Given the description of an element on the screen output the (x, y) to click on. 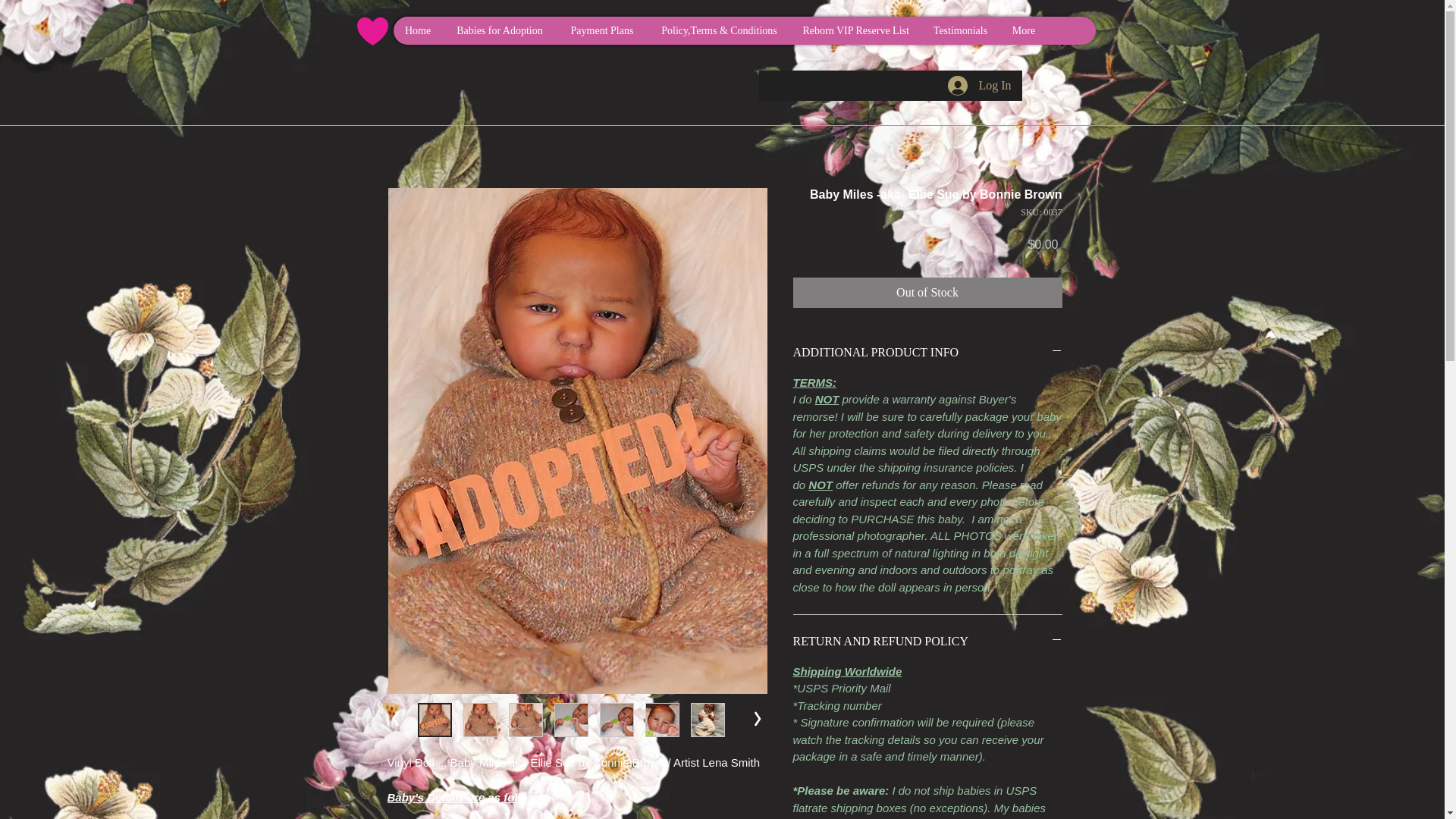
Log In (979, 85)
Out of Stock (927, 292)
Testimonials (960, 30)
Home (417, 30)
ADDITIONAL PRODUCT INFO (927, 352)
Reborn VIP Reserve List (855, 30)
RETURN AND REFUND POLICY (927, 641)
Payment Plans (601, 30)
Babies for Adoption (499, 30)
